Given the description of an element on the screen output the (x, y) to click on. 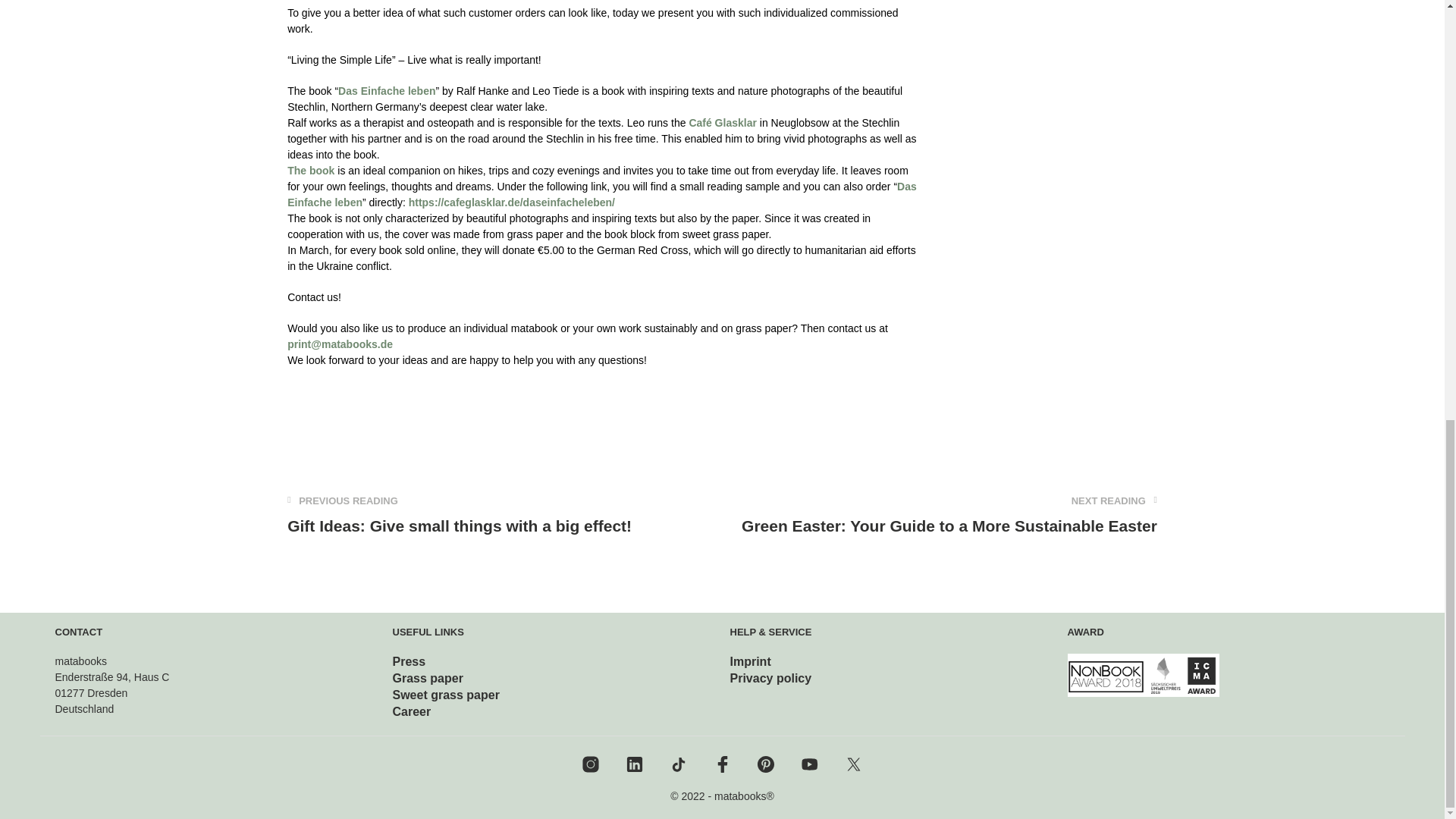
Das Einfache leben (601, 194)
Sweet grass paper (446, 694)
Linkedin (634, 764)
Instagram (589, 764)
Grass paper (428, 677)
The book (310, 170)
Das Einfache leben (386, 91)
Career (411, 711)
Tik Tok (678, 764)
Press (409, 661)
